Given the description of an element on the screen output the (x, y) to click on. 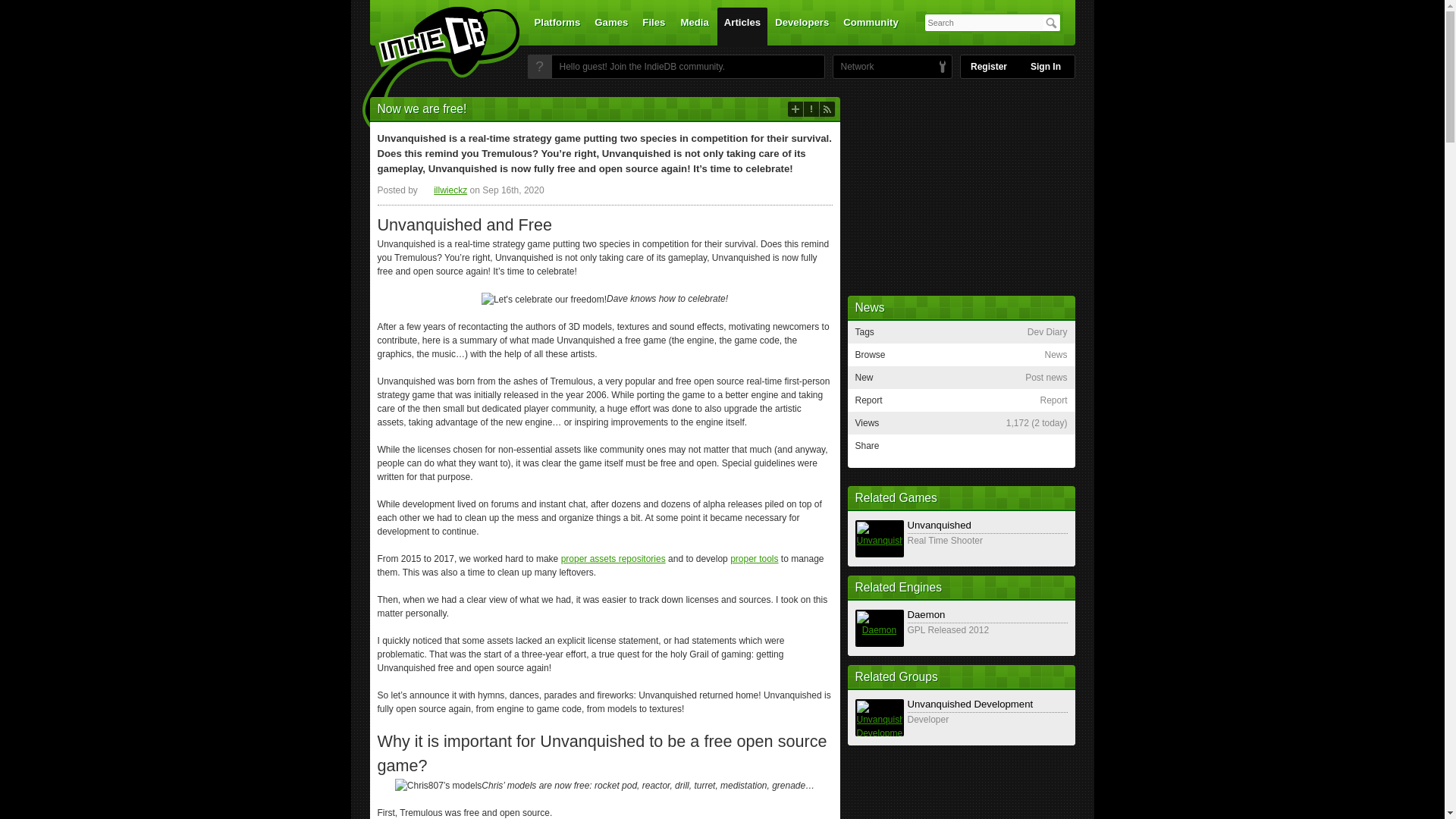
Media (694, 26)
Search IndieDB (1050, 22)
Post news (794, 109)
Join IndieDB (539, 66)
Home (430, 70)
Articles (742, 26)
Search (1050, 22)
Community (870, 26)
Files (652, 26)
DBolical (852, 66)
Developers (801, 26)
Games (611, 26)
Article Manager (443, 190)
RSS (826, 109)
Let's celebrate our freedom! (544, 299)
